Given the description of an element on the screen output the (x, y) to click on. 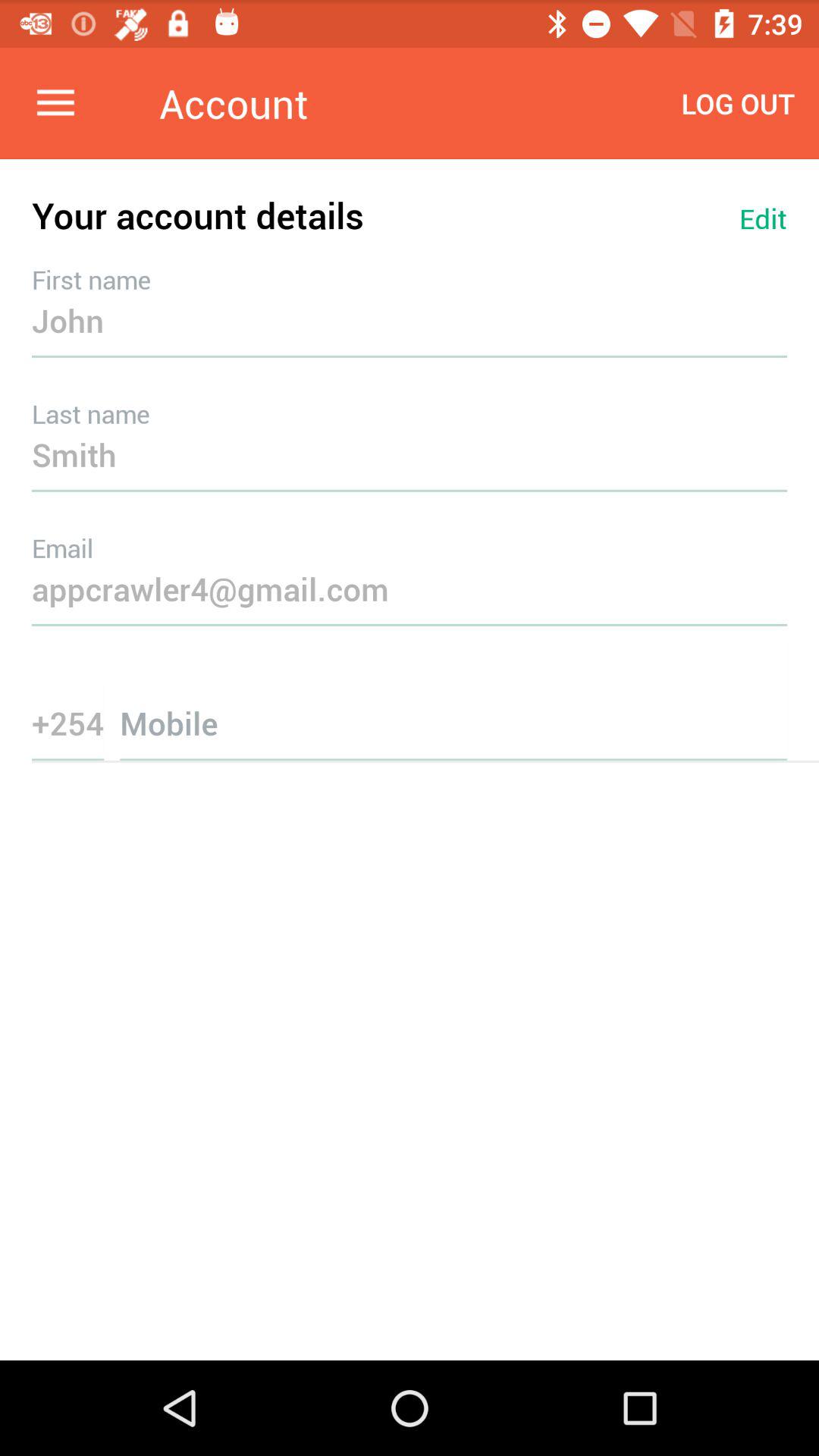
select icon at the top left corner (55, 103)
